Given the description of an element on the screen output the (x, y) to click on. 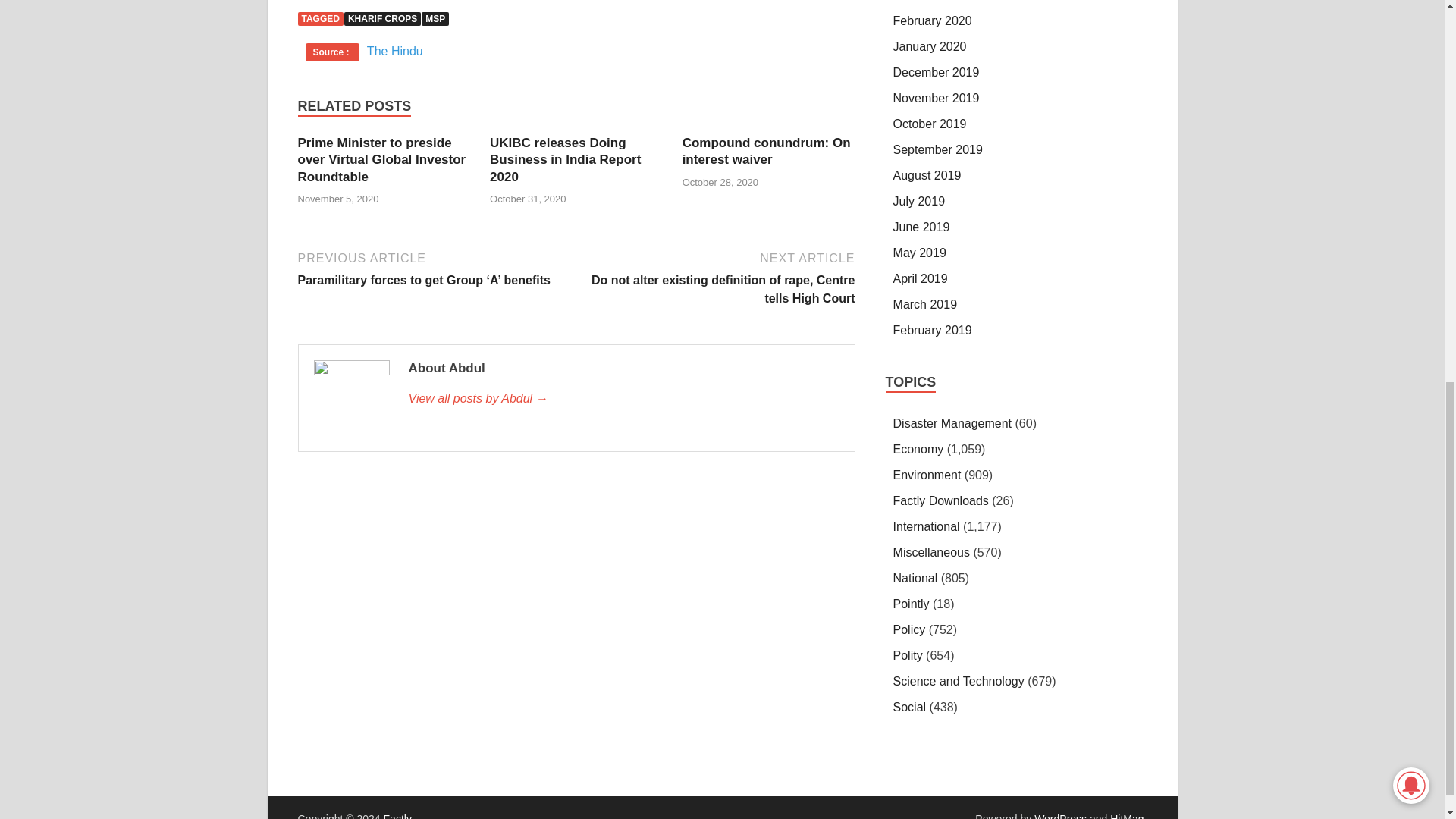
The Hindu (394, 51)
Compound conundrum: On interest waiver (766, 151)
Abdul (622, 398)
KHARIF CROPS (381, 18)
MSP (435, 18)
UKIBC releases Doing Business in India Report 2020 (564, 159)
